Given the description of an element on the screen output the (x, y) to click on. 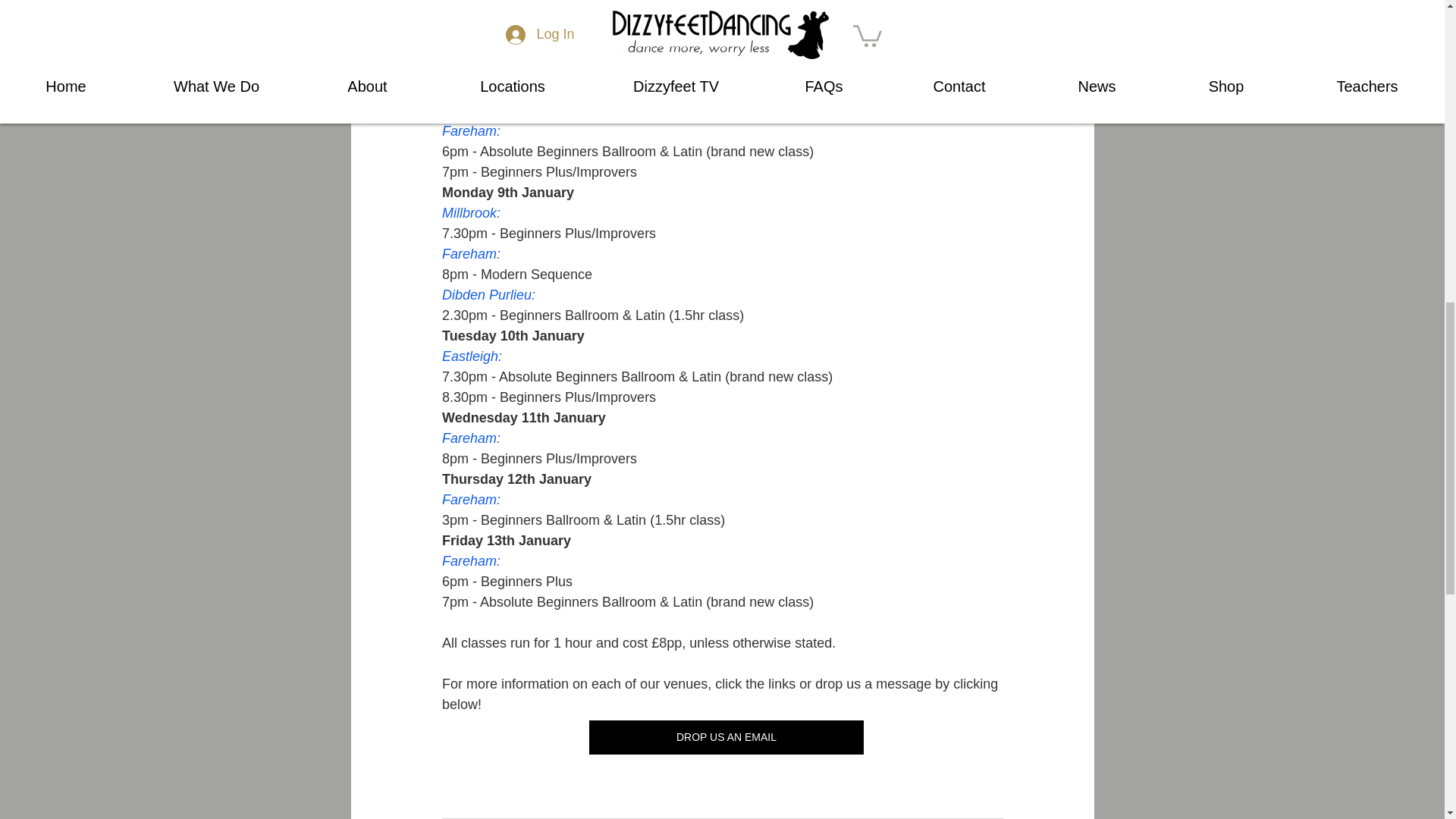
Millbrook: (470, 212)
Fareham: (470, 499)
Fareham: (470, 130)
Dibden Purlieu: (487, 294)
Fareham: (470, 437)
Eastleigh: (470, 355)
Fareham: (470, 253)
